Given the description of an element on the screen output the (x, y) to click on. 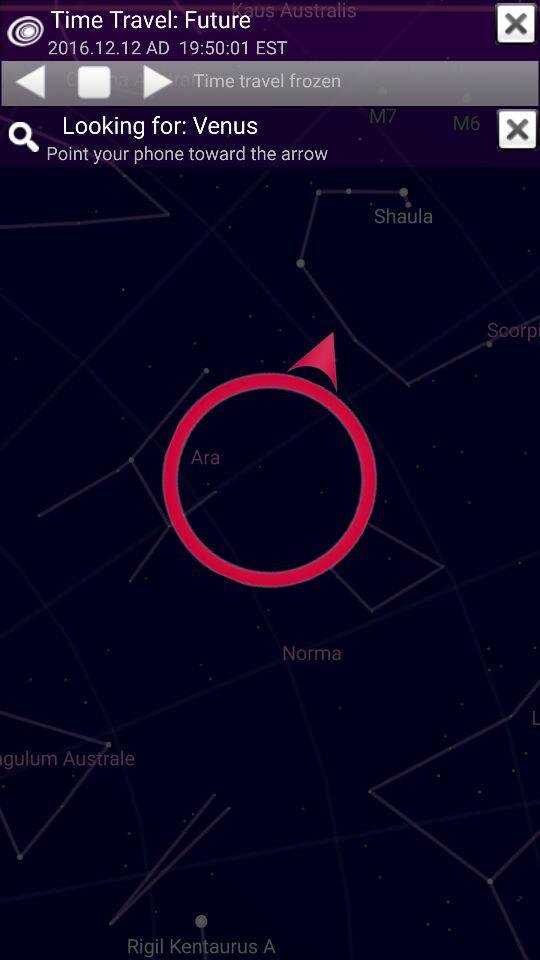
go to previews option (29, 81)
